Given the description of an element on the screen output the (x, y) to click on. 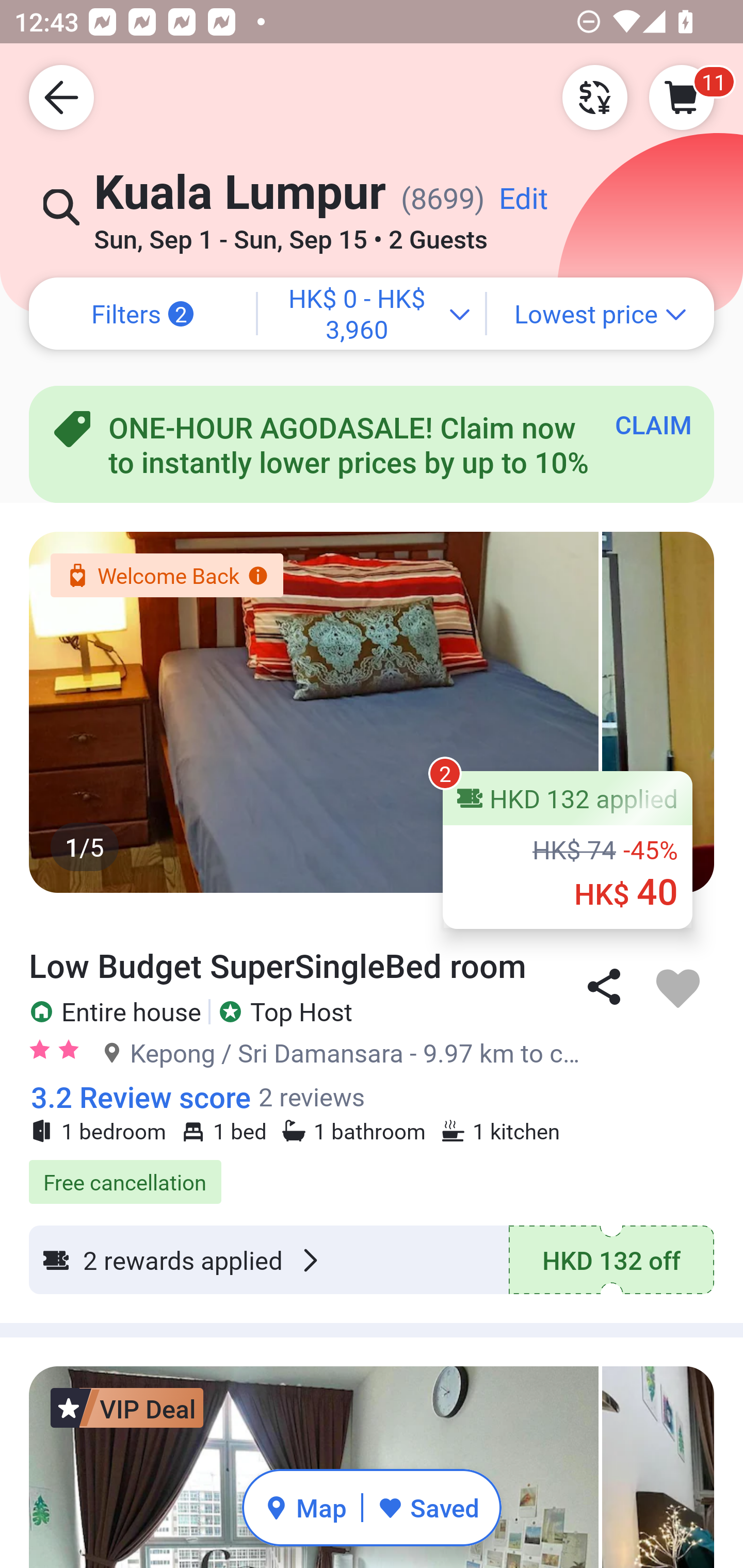
Sun, Sep 1 - Sun, Sep 15 • 2 Guests (290, 232)
Filters 2 (141, 313)
⁦HK$ 0⁩ - ⁦HK$ 3,960⁩ (371, 313)
Lowest price (600, 313)
CLAIM (653, 424)
1/5 (371, 711)
Welcome Back (166, 575)
HKD 132 applied ‪HK$ 74 -45% ‪HK$ 40 2 (567, 849)
Free cancellation (371, 1171)
2 rewards applied HKD 132 off (371, 1259)
VIP Deal (126, 1407)
Map (305, 1507)
Saved (428, 1507)
